Given the description of an element on the screen output the (x, y) to click on. 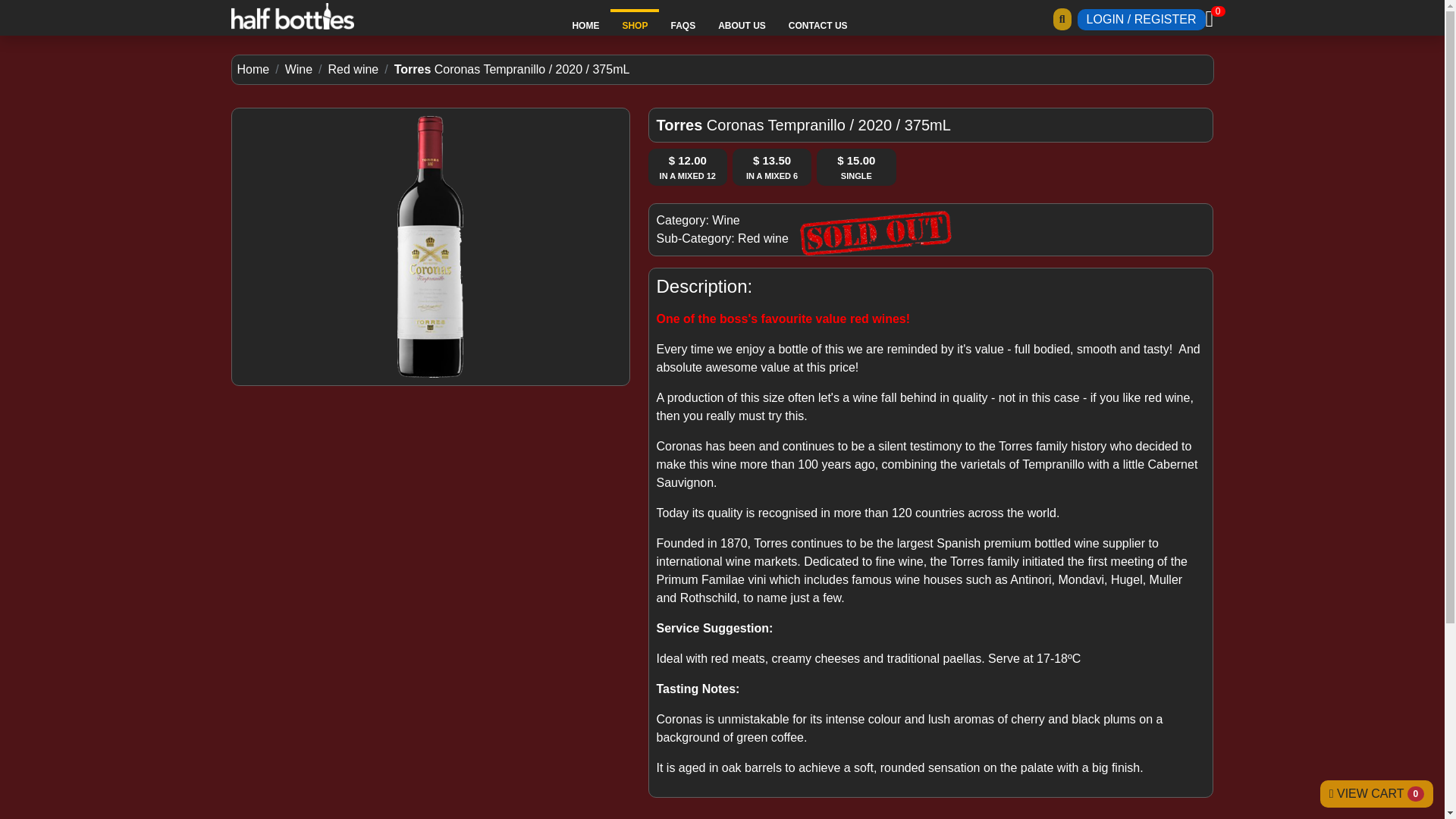
Wines (763, 237)
Back to the frontpage (252, 69)
Red wine (763, 237)
ABOUT US (741, 25)
Wine (299, 69)
Wine (299, 69)
FAQS (682, 25)
Wine (725, 219)
Home (252, 69)
Red wine (353, 69)
Red wine (353, 69)
SHOP (634, 25)
Rose (725, 219)
CONTACT US (818, 25)
HOME (585, 25)
